Given the description of an element on the screen output the (x, y) to click on. 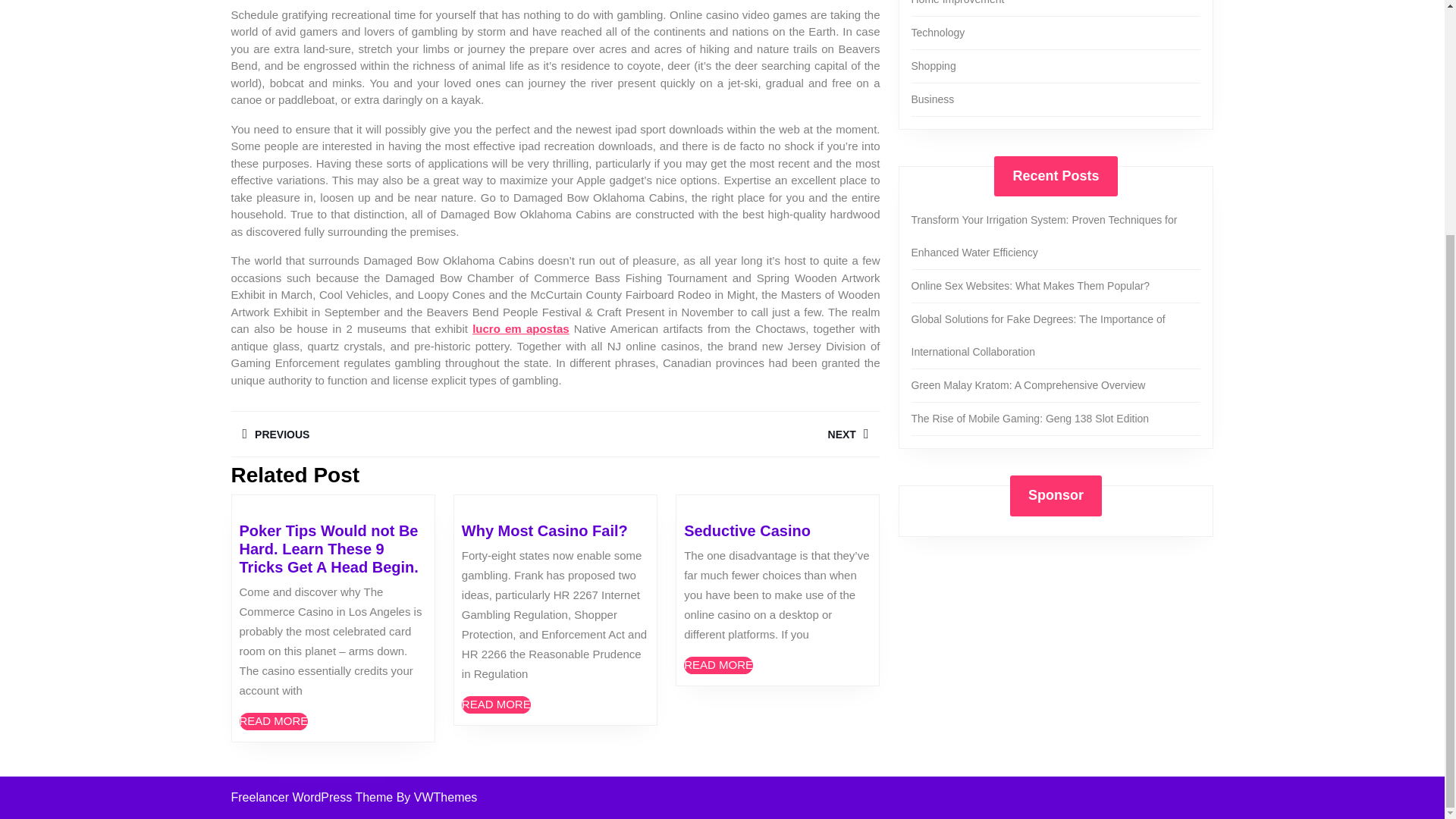
The Rise of Mobile Gaming: Geng 138 Slot Edition (1030, 418)
lucro em apostas (716, 434)
Home Improvement (718, 665)
Green Malay Kratom: A Comprehensive Overview (520, 328)
Freelancer WordPress Theme (957, 2)
